Given the description of an element on the screen output the (x, y) to click on. 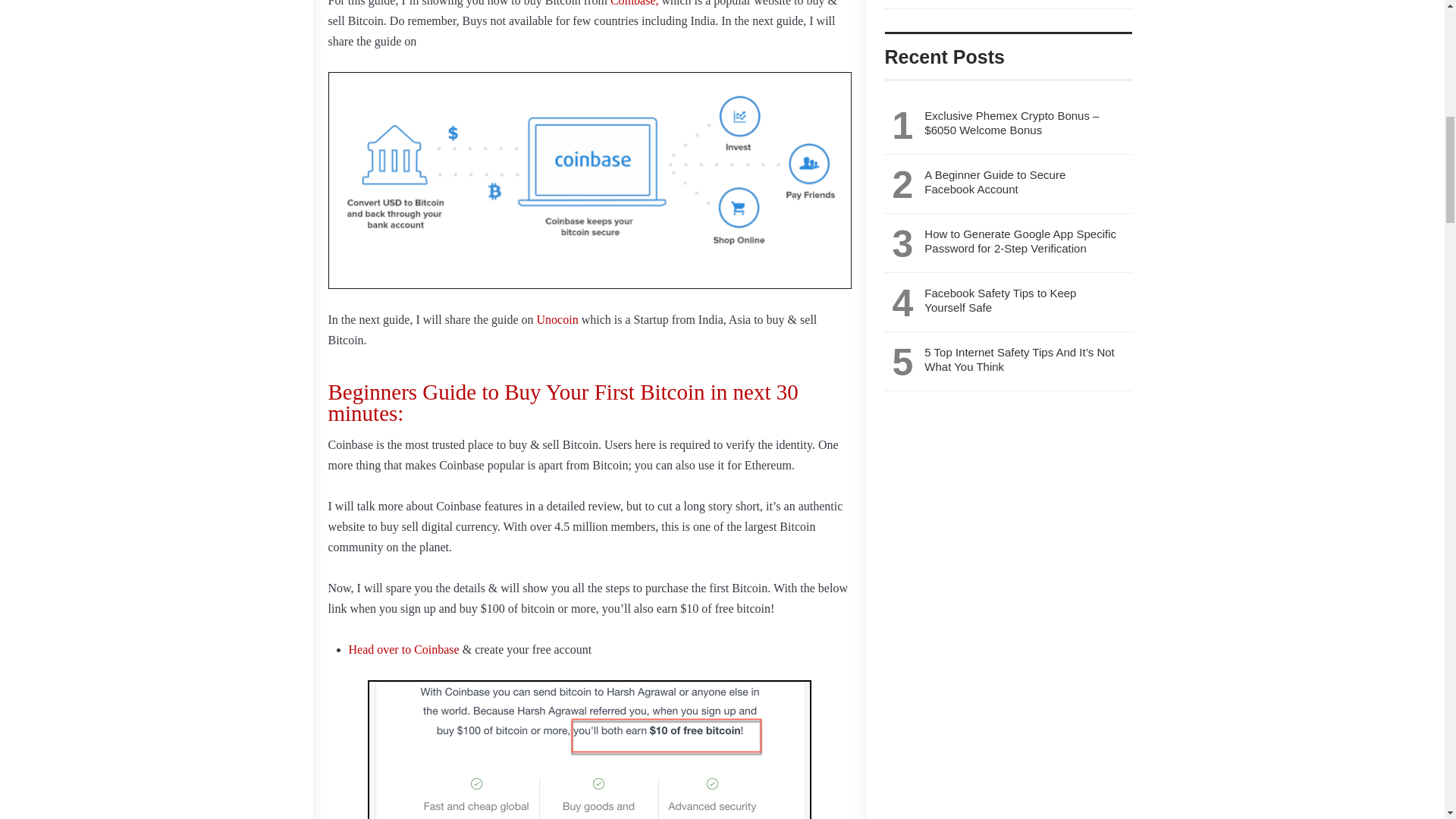
Unocoin (557, 318)
Head over to Coinbase (404, 649)
Coinbase, (634, 3)
